Given the description of an element on the screen output the (x, y) to click on. 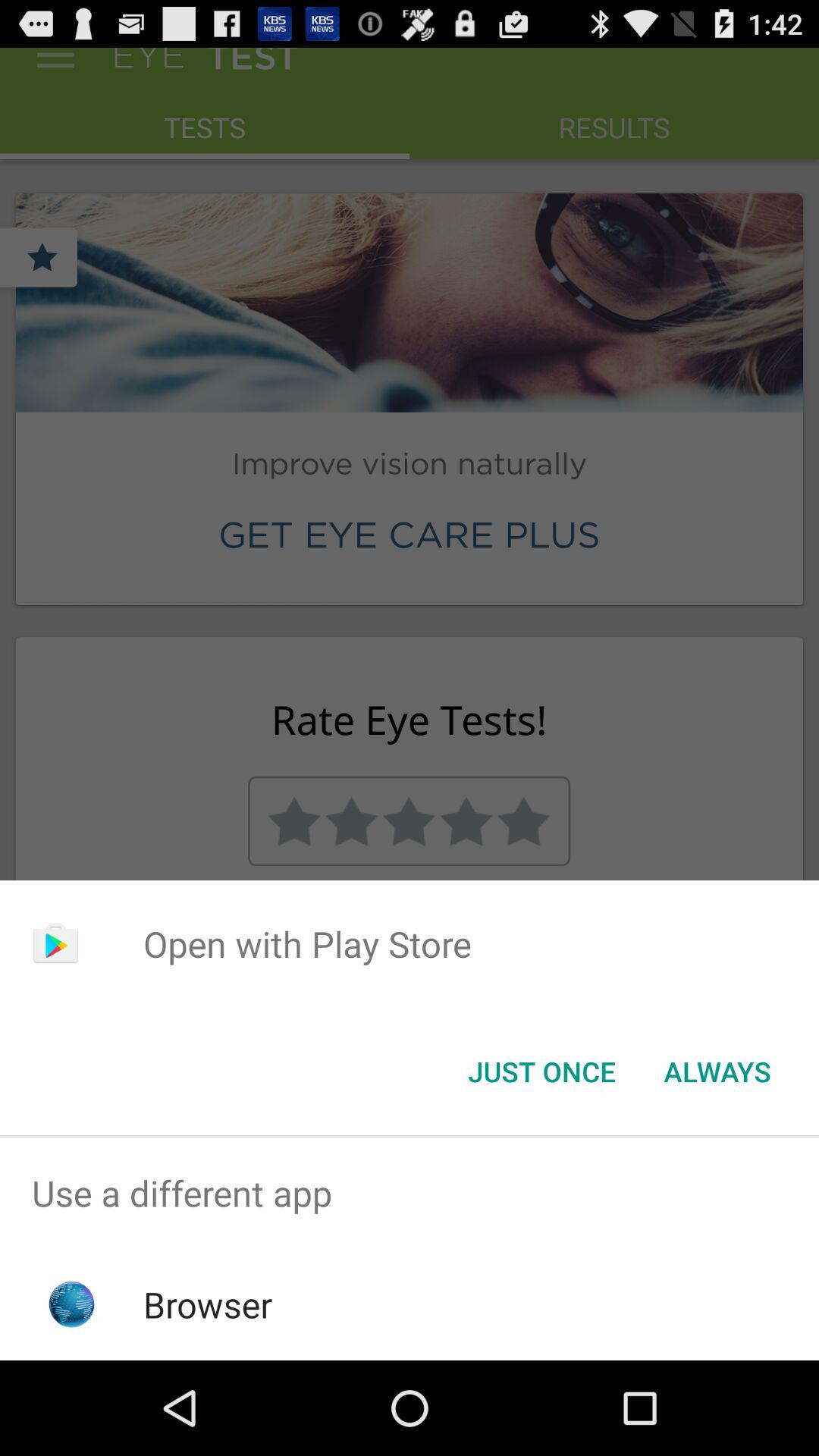
open the always (717, 1071)
